Given the description of an element on the screen output the (x, y) to click on. 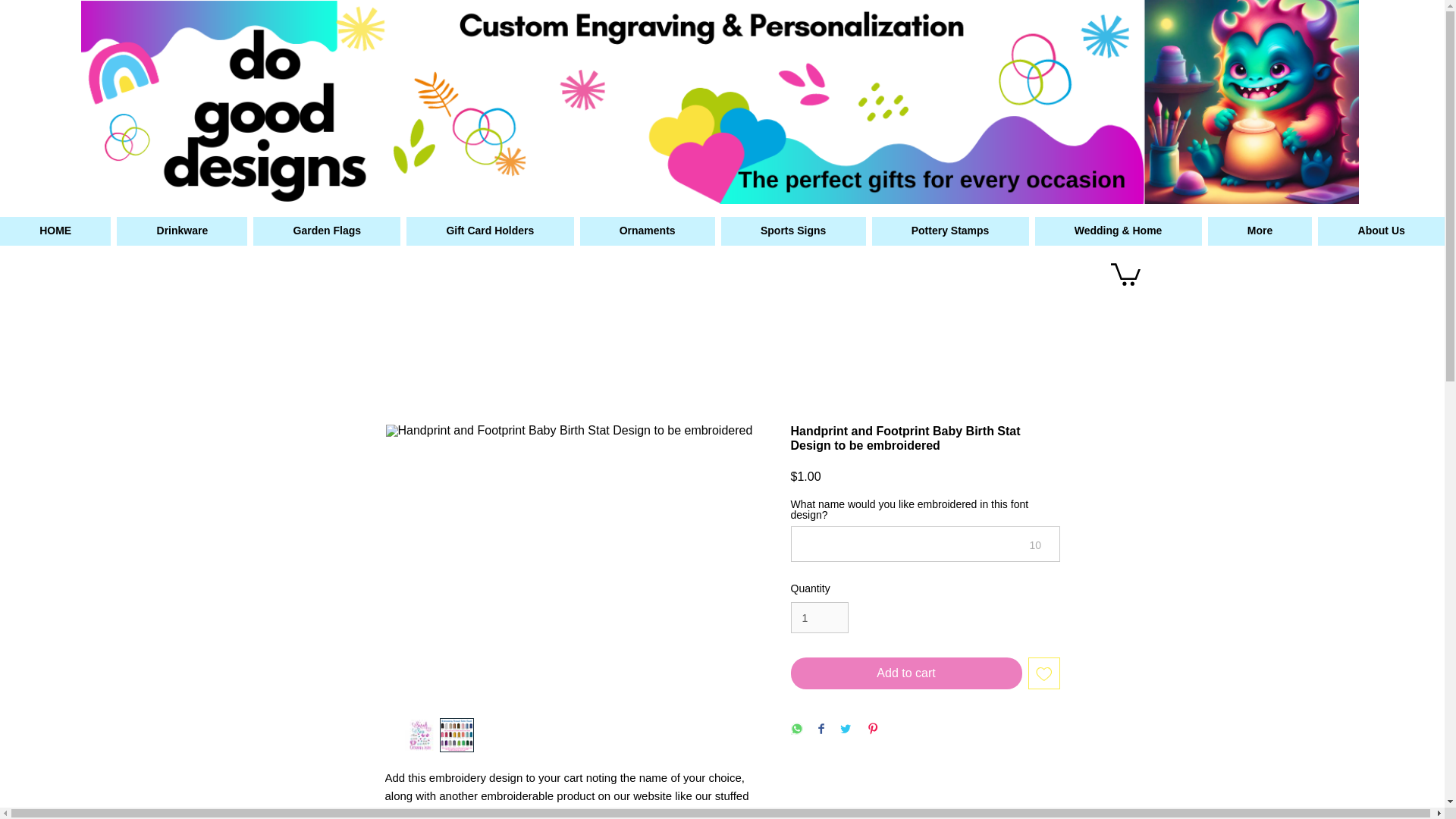
Add to cart (906, 673)
1 (818, 617)
Garden Flags (326, 231)
About Us (1380, 231)
Pottery Stamps (950, 231)
HOME (55, 231)
Sports Signs (793, 231)
Gift Card Holders (489, 231)
